Given the description of an element on the screen output the (x, y) to click on. 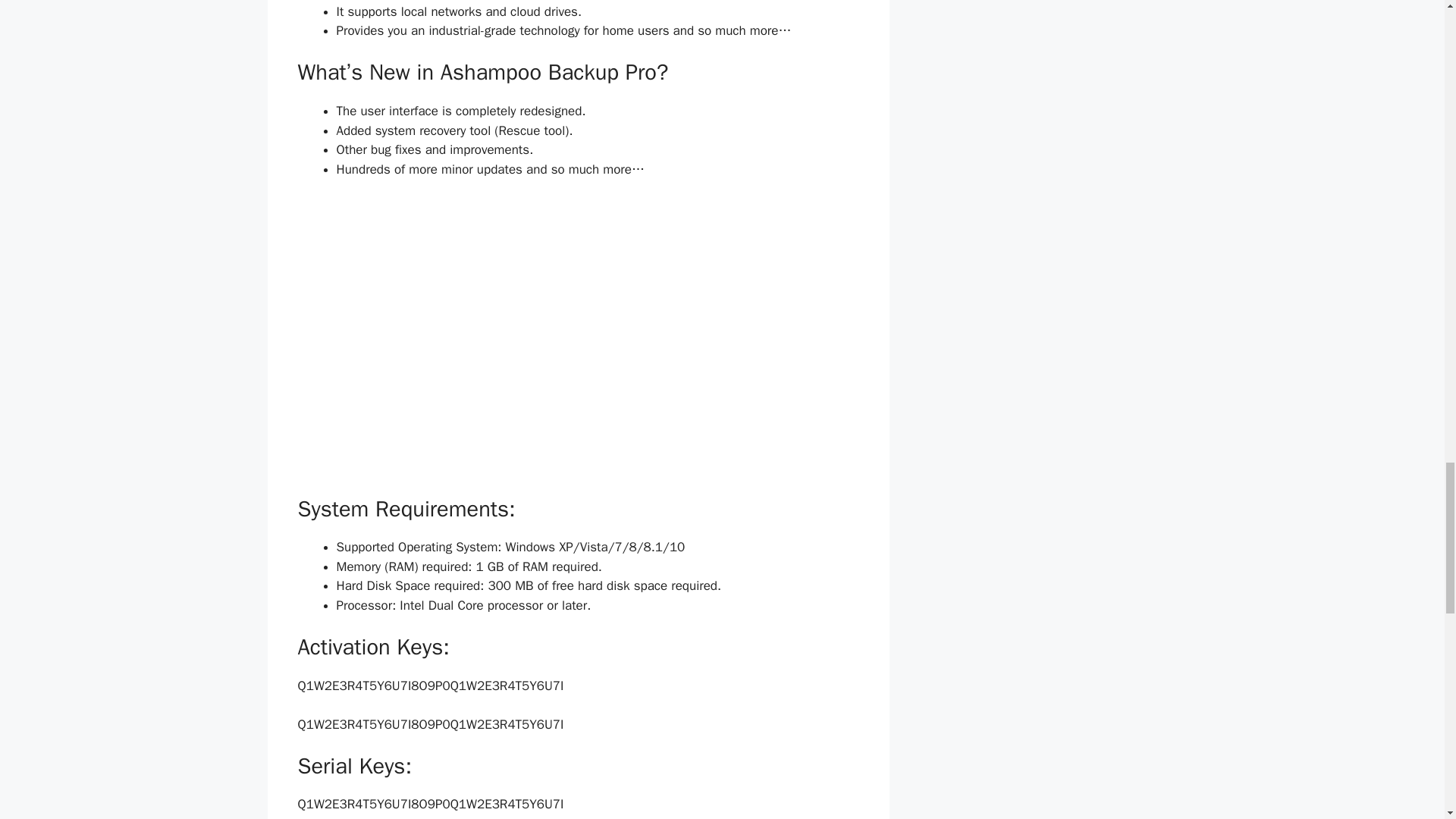
Ashampoo Backup Pro 16 - The safety for your data (577, 335)
